Given the description of an element on the screen output the (x, y) to click on. 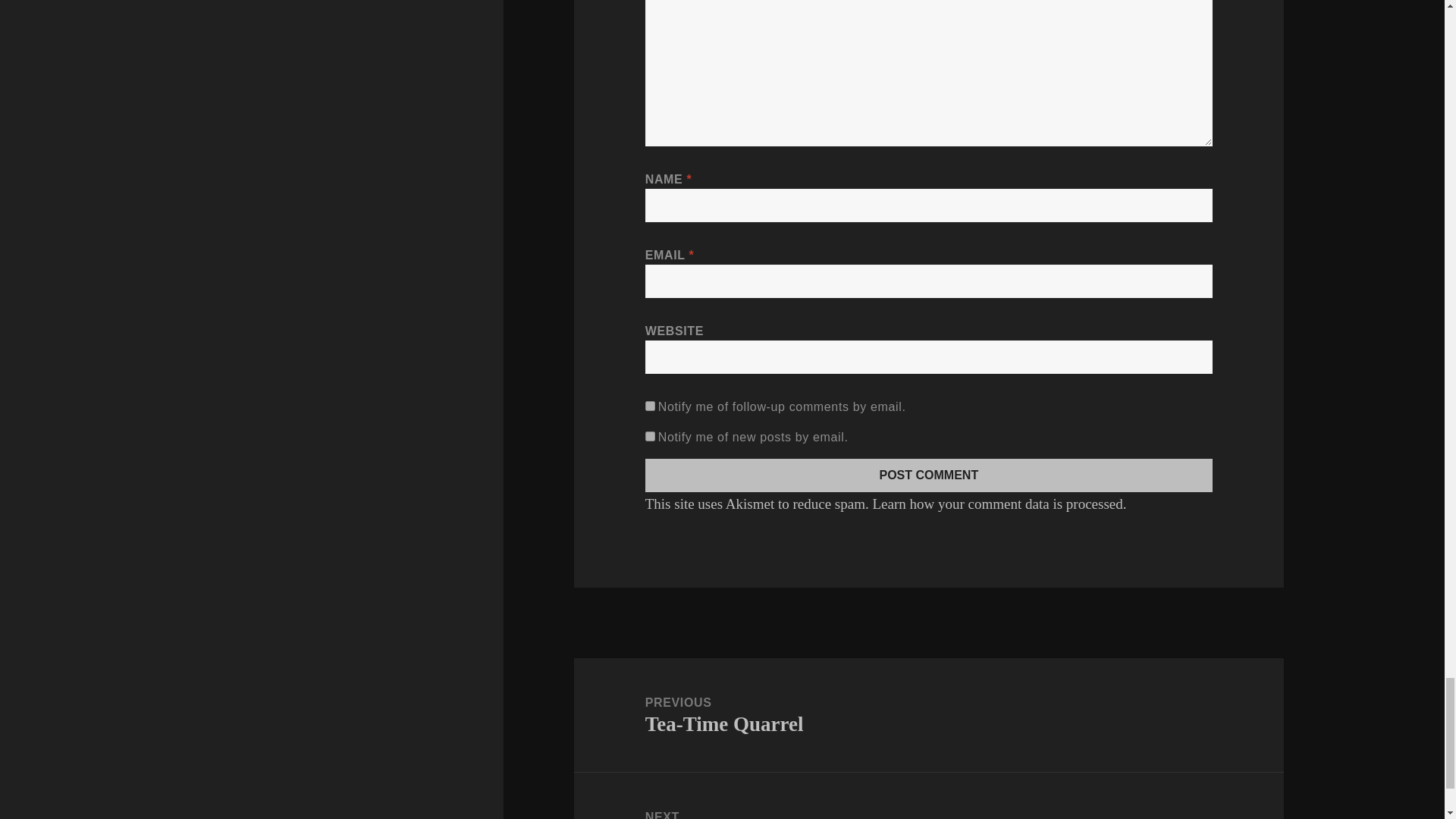
subscribe (650, 406)
subscribe (650, 436)
Post Comment (928, 475)
